Given the description of an element on the screen output the (x, y) to click on. 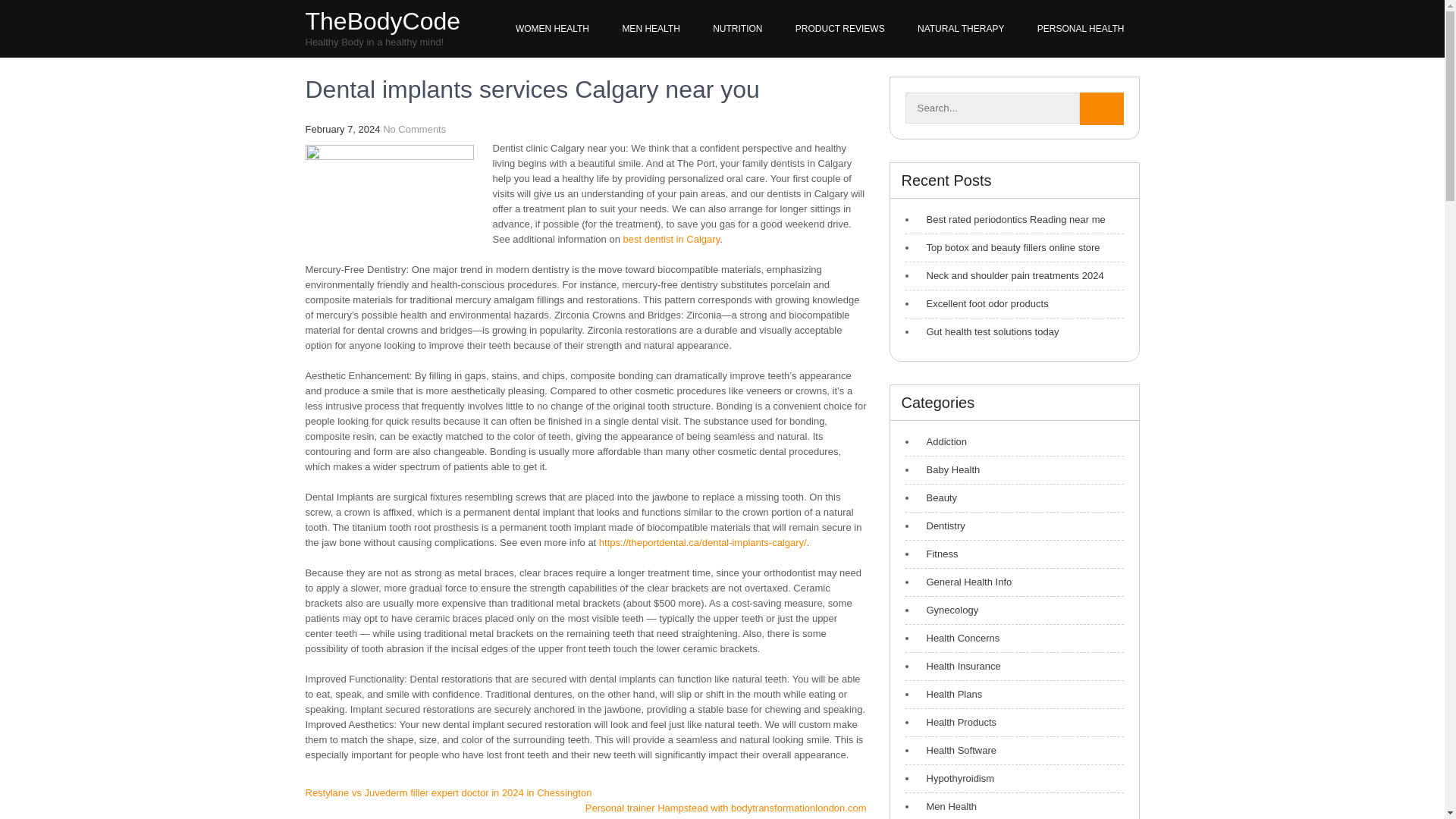
Search (1102, 108)
Gut health test solutions today (988, 331)
Hypothyroidism (956, 778)
Excellent foot odor products (983, 304)
WOMEN HEALTH (552, 28)
Search (1102, 108)
best dentist in Calgary (671, 238)
NATURAL THERAPY (960, 28)
NUTRITION (737, 28)
Dentistry (941, 525)
